Given the description of an element on the screen output the (x, y) to click on. 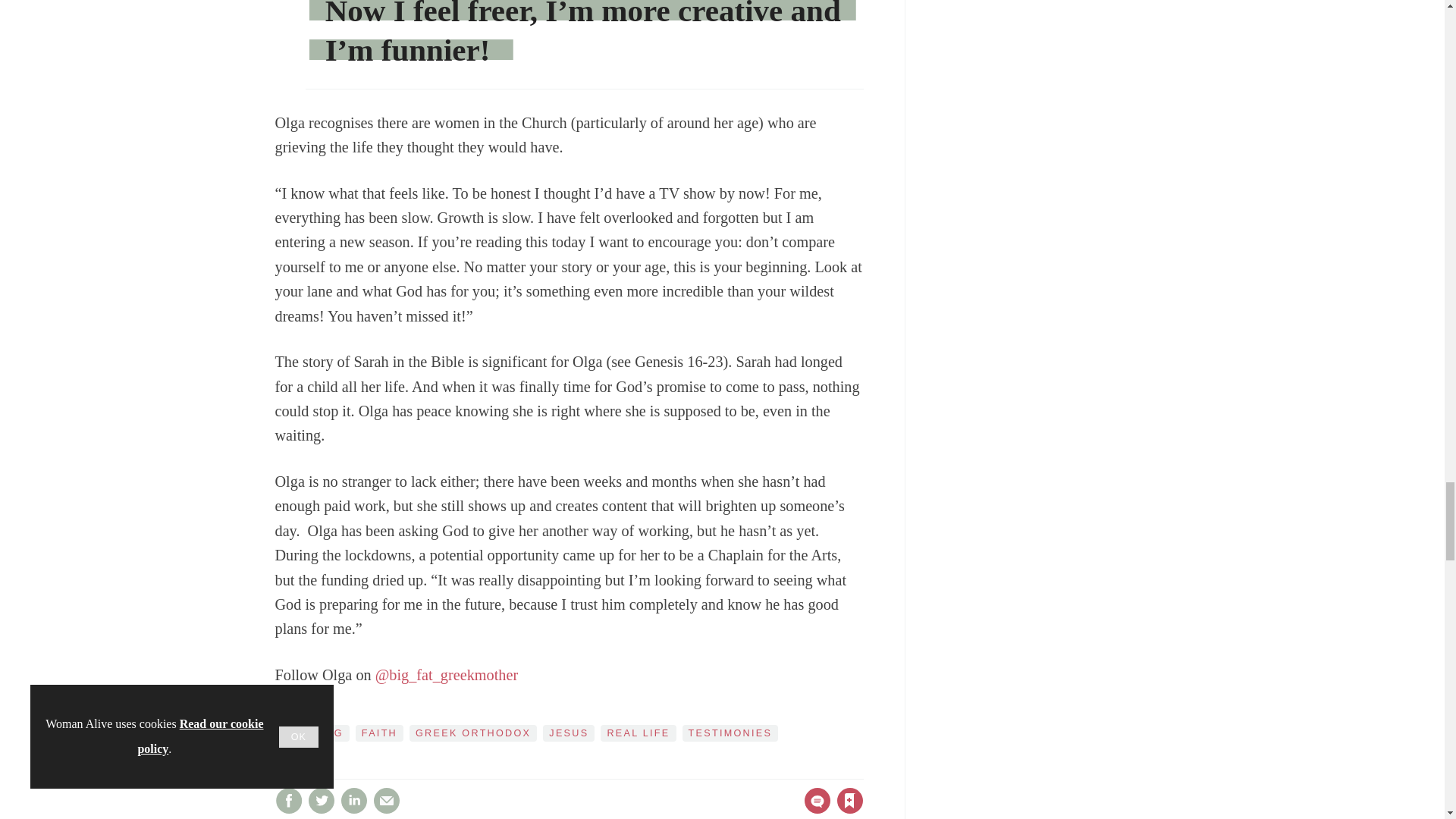
Share this on Linked in (352, 800)
Email this article (386, 800)
Share this on Twitter (320, 800)
No comments (812, 809)
Share this on Facebook (288, 800)
